Given the description of an element on the screen output the (x, y) to click on. 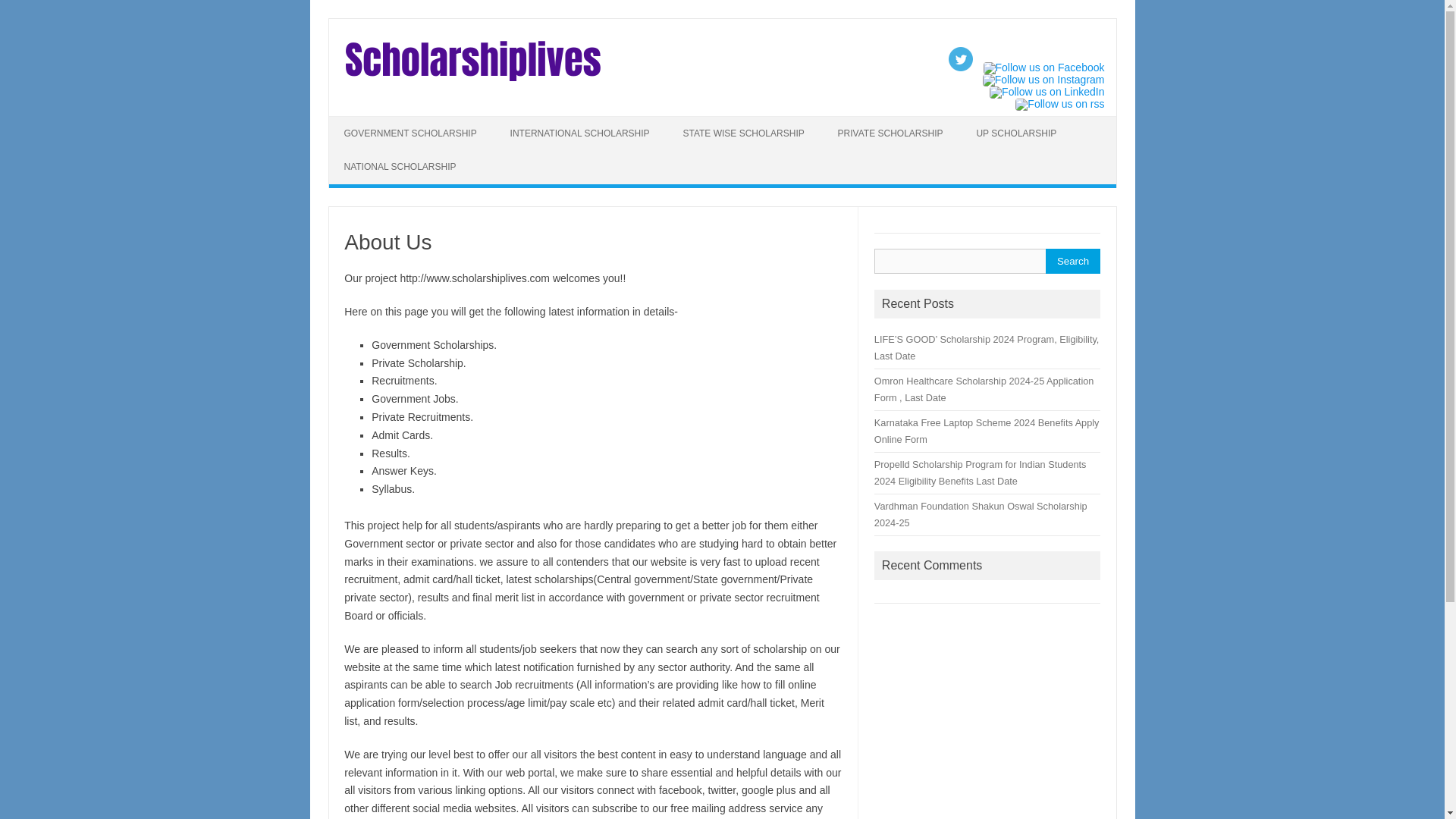
UP SCHOLARSHIP (1015, 133)
Karnataka Free Laptop Scheme 2024 Benefits Apply Online Form (987, 430)
Skip to content (363, 121)
Skip to content (363, 121)
Vardhman Foundation Shakun Oswal Scholarship 2024-25 (981, 514)
GOVERNMENT SCHOLARSHIP (410, 133)
Scholarships (472, 82)
NATIONAL SCHOLARSHIP (400, 166)
STATE WISE SCHOLARSHIP (742, 133)
Search (1072, 260)
PRIVATE SCHOLARSHIP (890, 133)
INTERNATIONAL SCHOLARSHIP (580, 133)
Search (1072, 260)
